Given the description of an element on the screen output the (x, y) to click on. 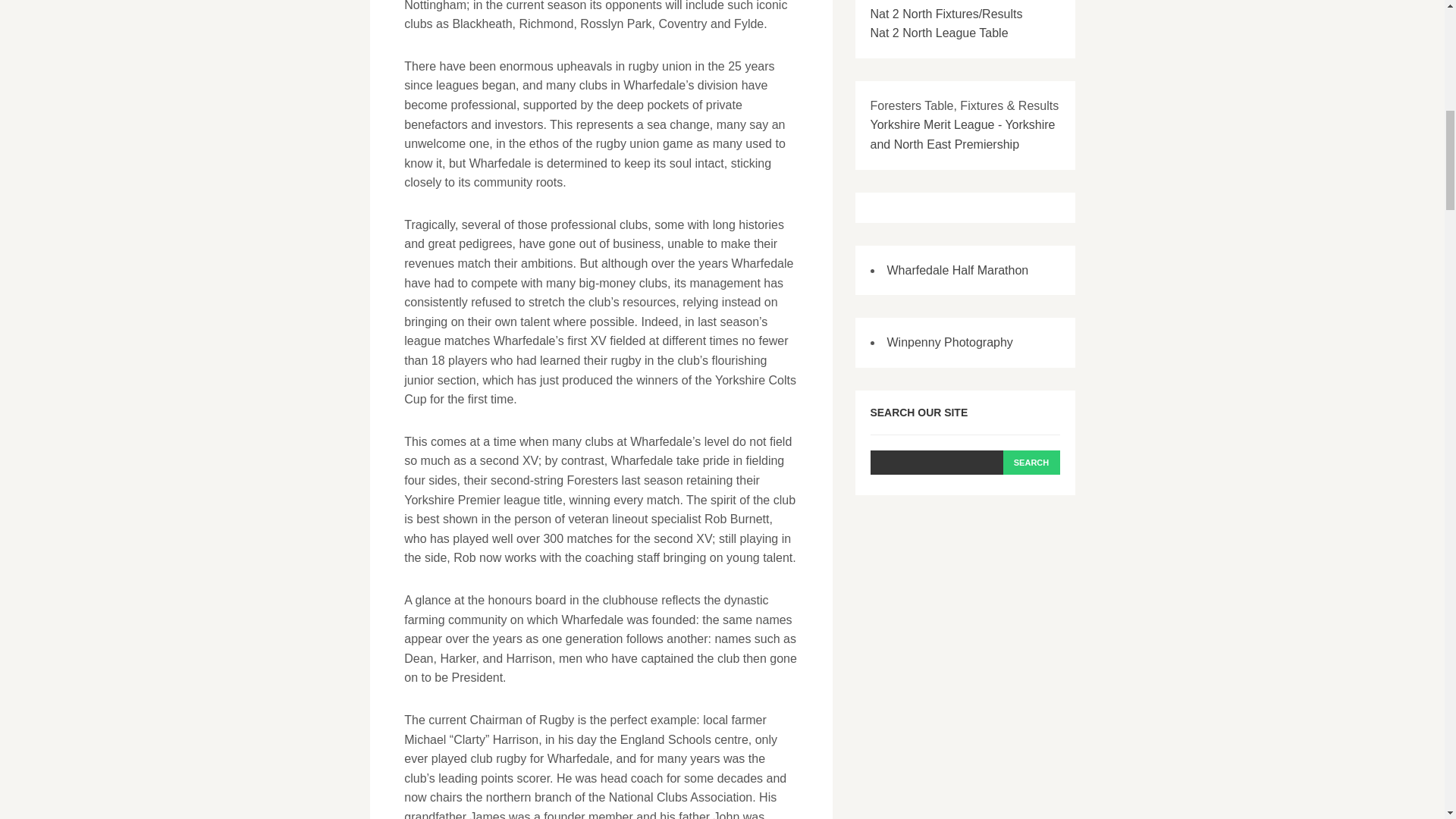
Search (1031, 462)
